Given the description of an element on the screen output the (x, y) to click on. 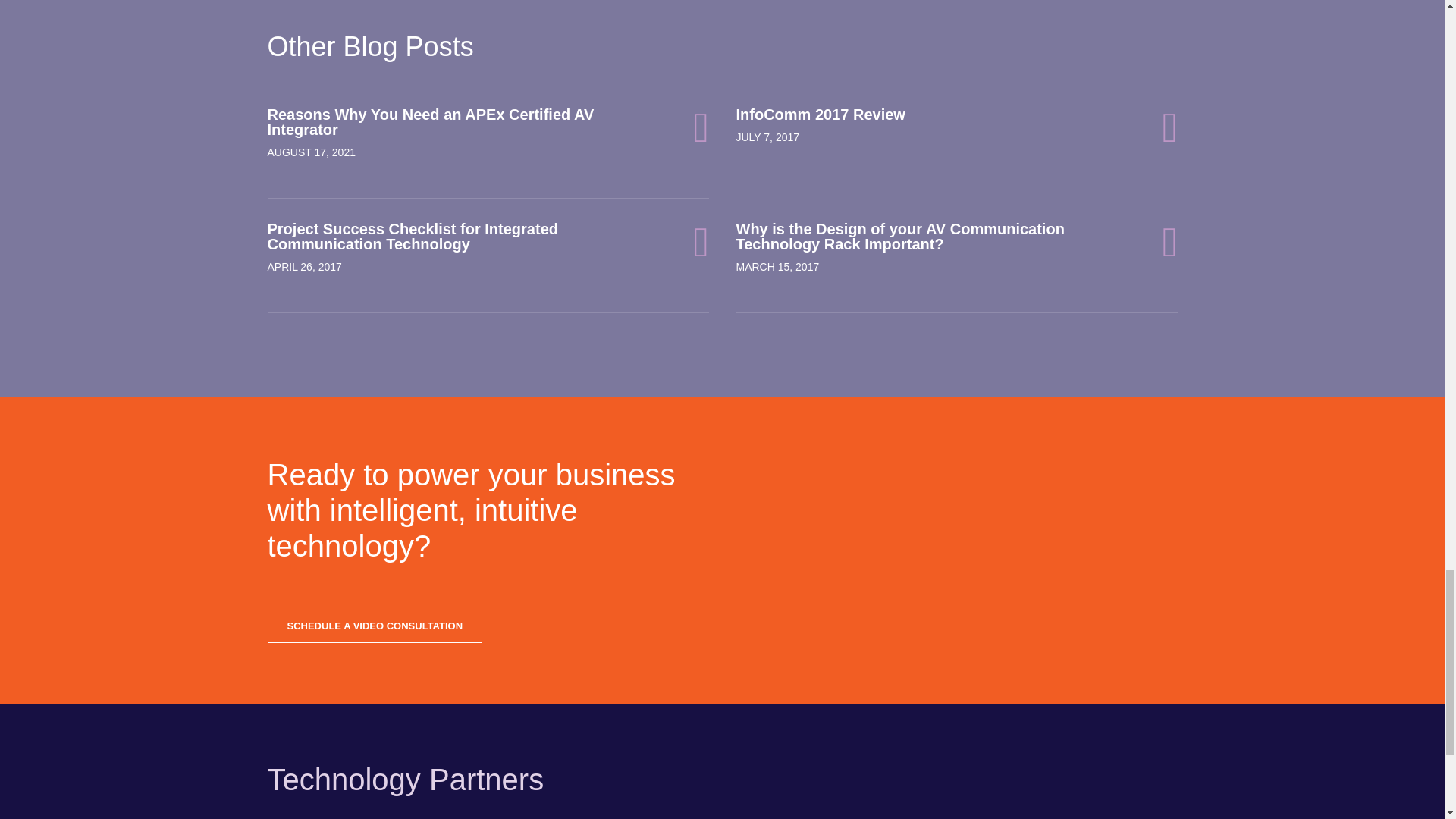
Reasons Why You Need an APEx Certified AV Integrator (486, 122)
SCHEDULE A VIDEO CONSULTATION (373, 625)
SCHEDULE A VIDEO CONSULTATION (373, 625)
InfoComm 2017 Review (955, 114)
